Given the description of an element on the screen output the (x, y) to click on. 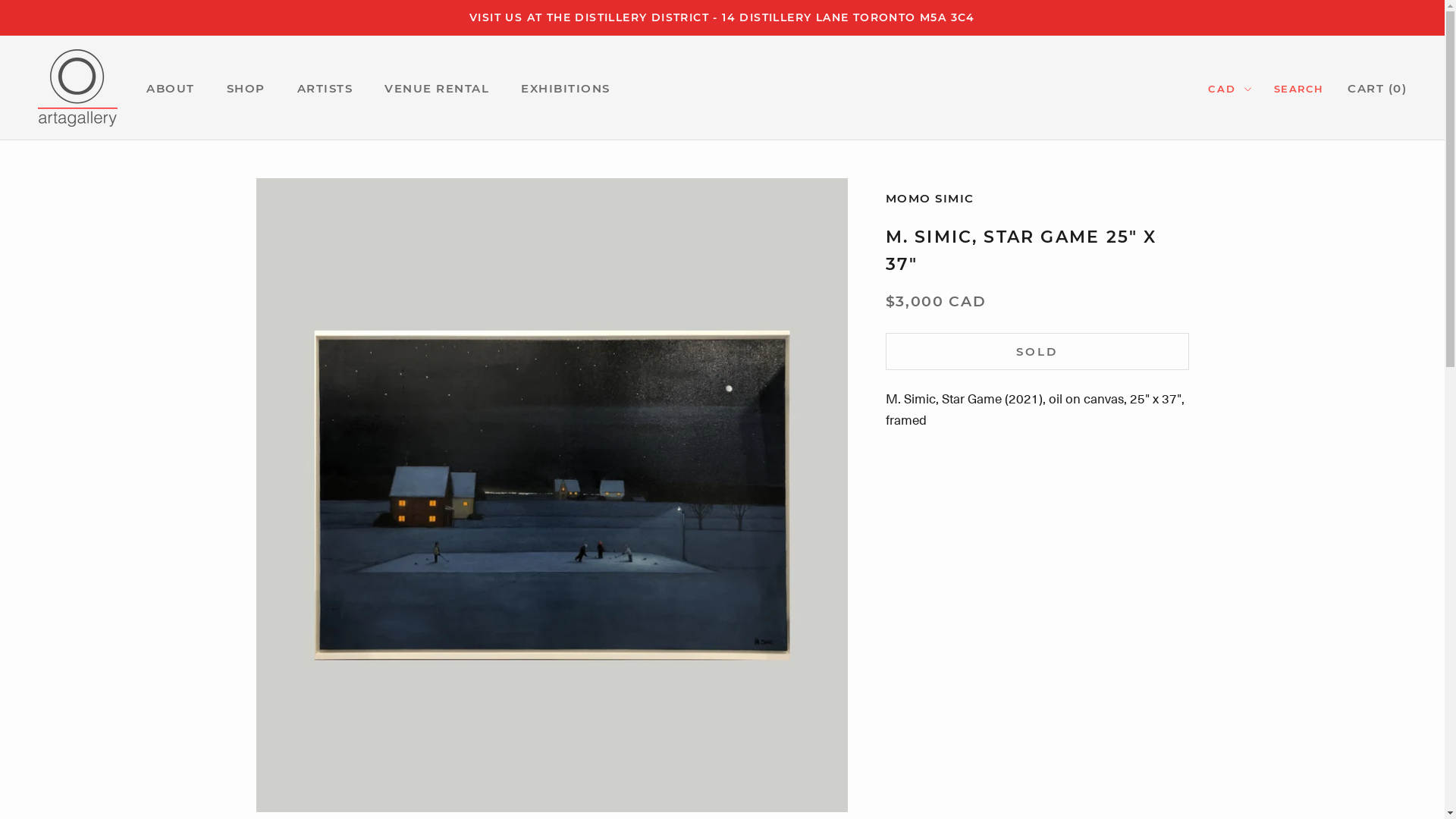
CART (0) Element type: text (1376, 88)
VENUE RENTAL
VENUE RENTAL Element type: text (436, 88)
ARTISTS
ARTISTS Element type: text (325, 88)
SEARCH Element type: text (1298, 89)
SOLD Element type: text (1037, 351)
SHOP
SHOP Element type: text (244, 88)
EXHIBITIONS Element type: text (565, 88)
ABOUT Element type: text (170, 88)
